Given the description of an element on the screen output the (x, y) to click on. 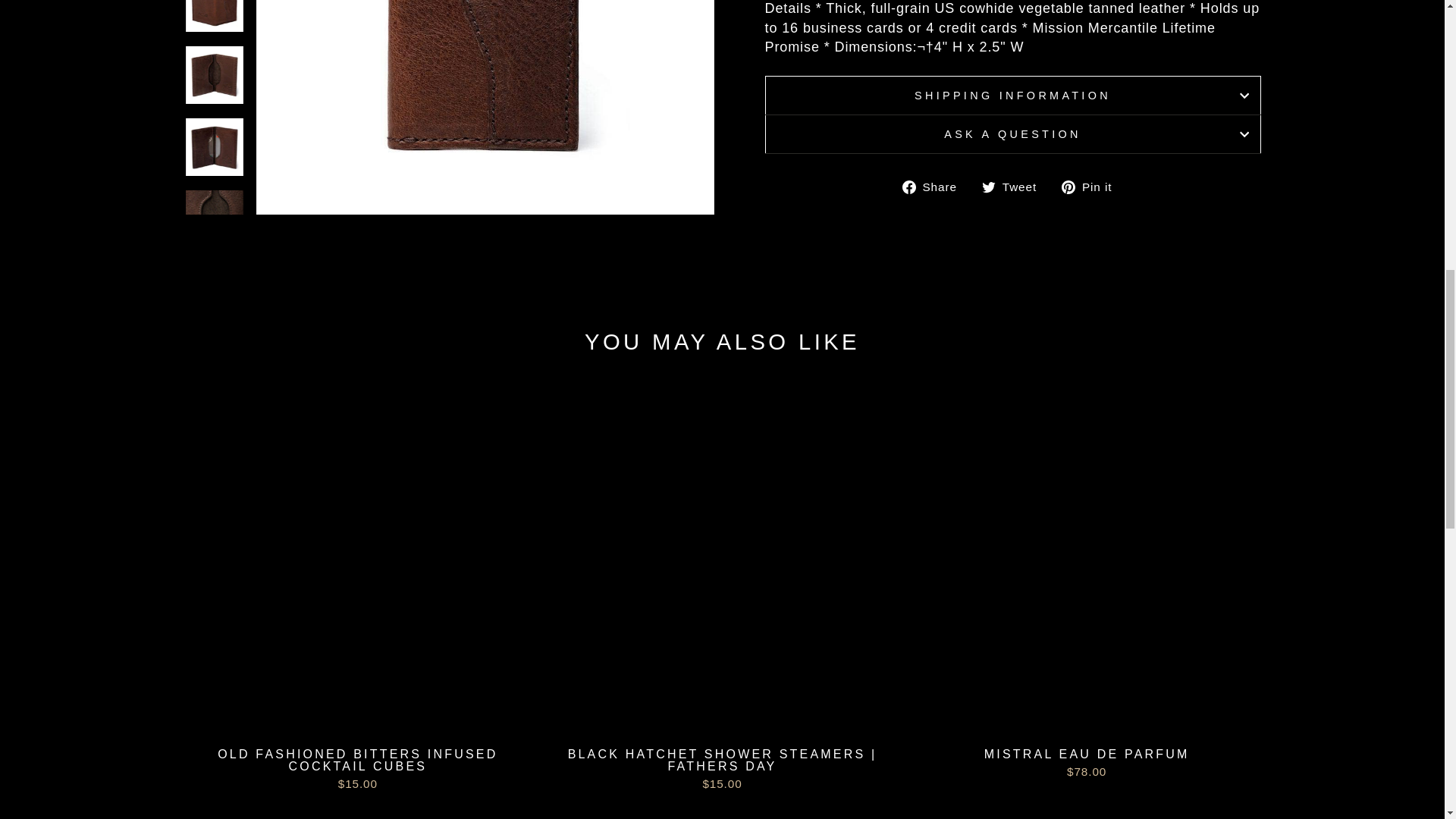
Share on Facebook (935, 185)
twitter (988, 187)
Tweet on Twitter (1014, 185)
Pin on Pinterest (1091, 185)
